Given the description of an element on the screen output the (x, y) to click on. 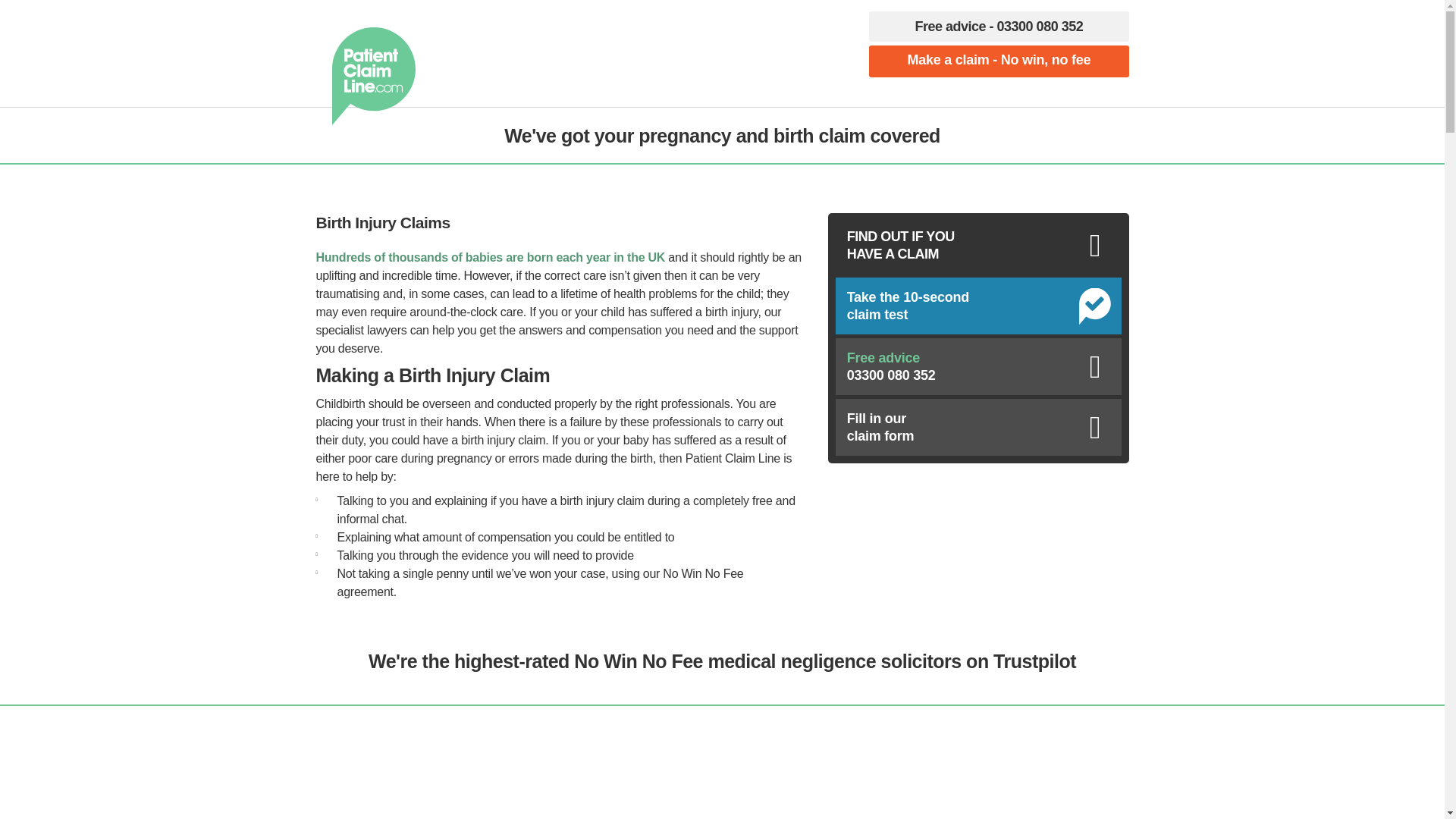
Hundreds of thousands of babies are born each year in the UK (490, 256)
Customer reviews powered by Trustpilot (648, 59)
Free advice - 03300 080 352 (978, 426)
Make a claim - No win, no fee (998, 26)
Customer reviews powered by Trustpilot (998, 60)
Customer reviews powered by Trustpilot (992, 97)
